Given the description of an element on the screen output the (x, y) to click on. 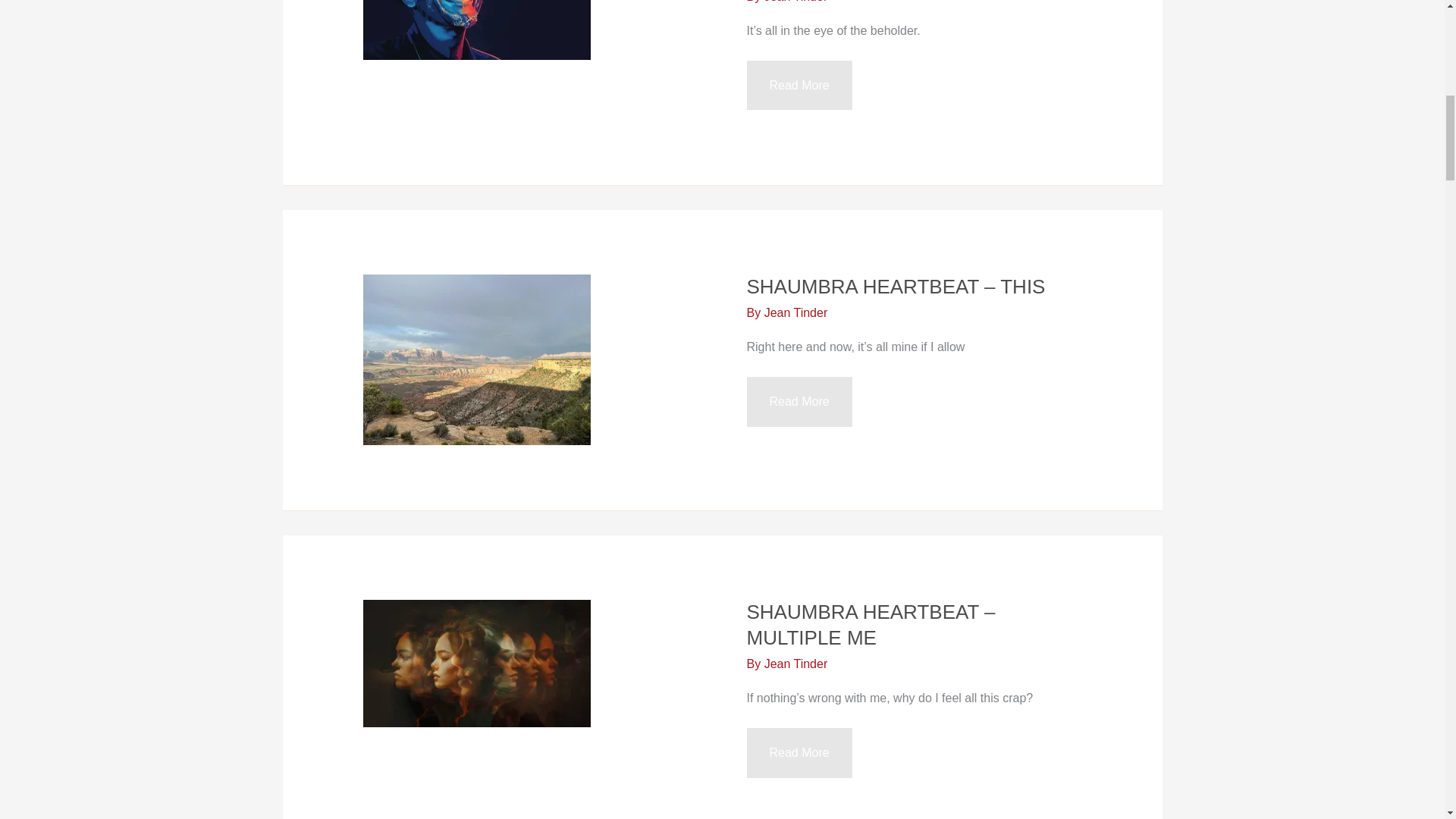
Jean Tinder (796, 663)
View all posts by Jean Tinder (796, 1)
Jean Tinder (796, 1)
View all posts by Jean Tinder (796, 312)
Jean Tinder (796, 312)
View all posts by Jean Tinder (796, 663)
